Given the description of an element on the screen output the (x, y) to click on. 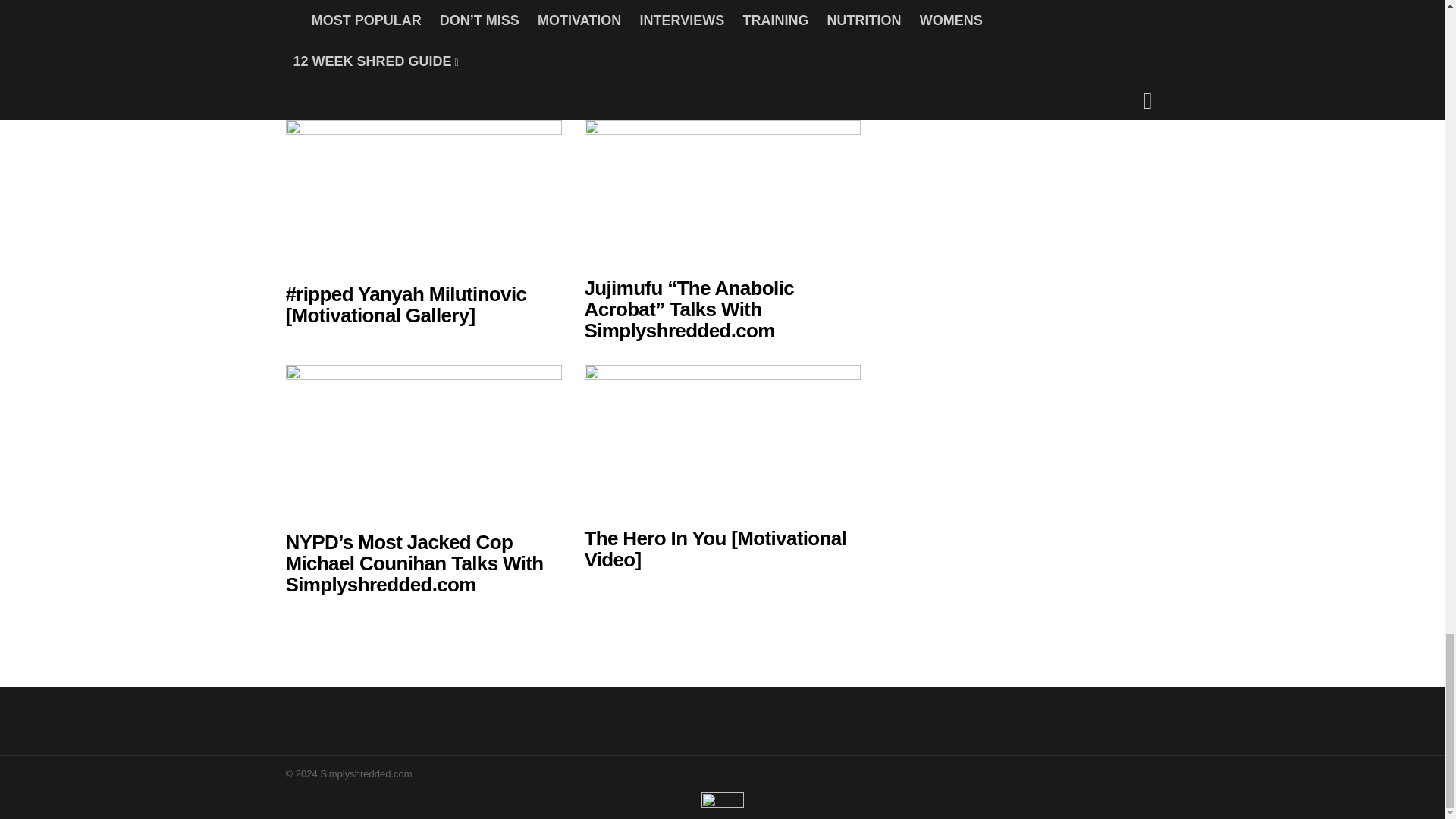
20 Year Old Belgian Fitness Sensation Savannah Prez (705, 20)
